Given the description of an element on the screen output the (x, y) to click on. 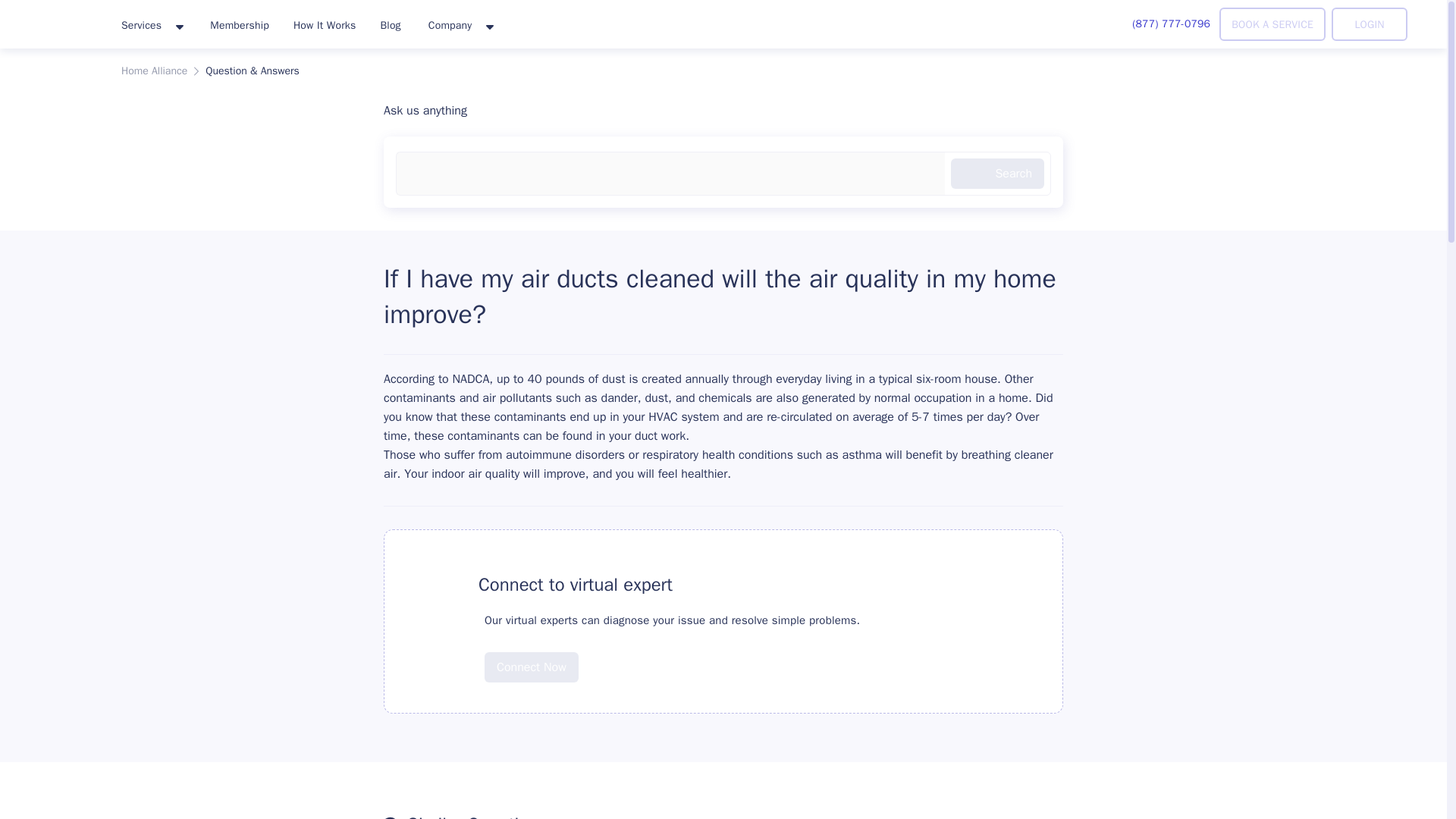
How It Works (324, 24)
Membership (239, 24)
LOGIN (1369, 23)
Company (460, 25)
Services (151, 25)
FAQ (438, 584)
Connect Now (531, 666)
HomeAlliance (55, 20)
Home Alliance (153, 70)
Search (996, 173)
